Given the description of an element on the screen output the (x, y) to click on. 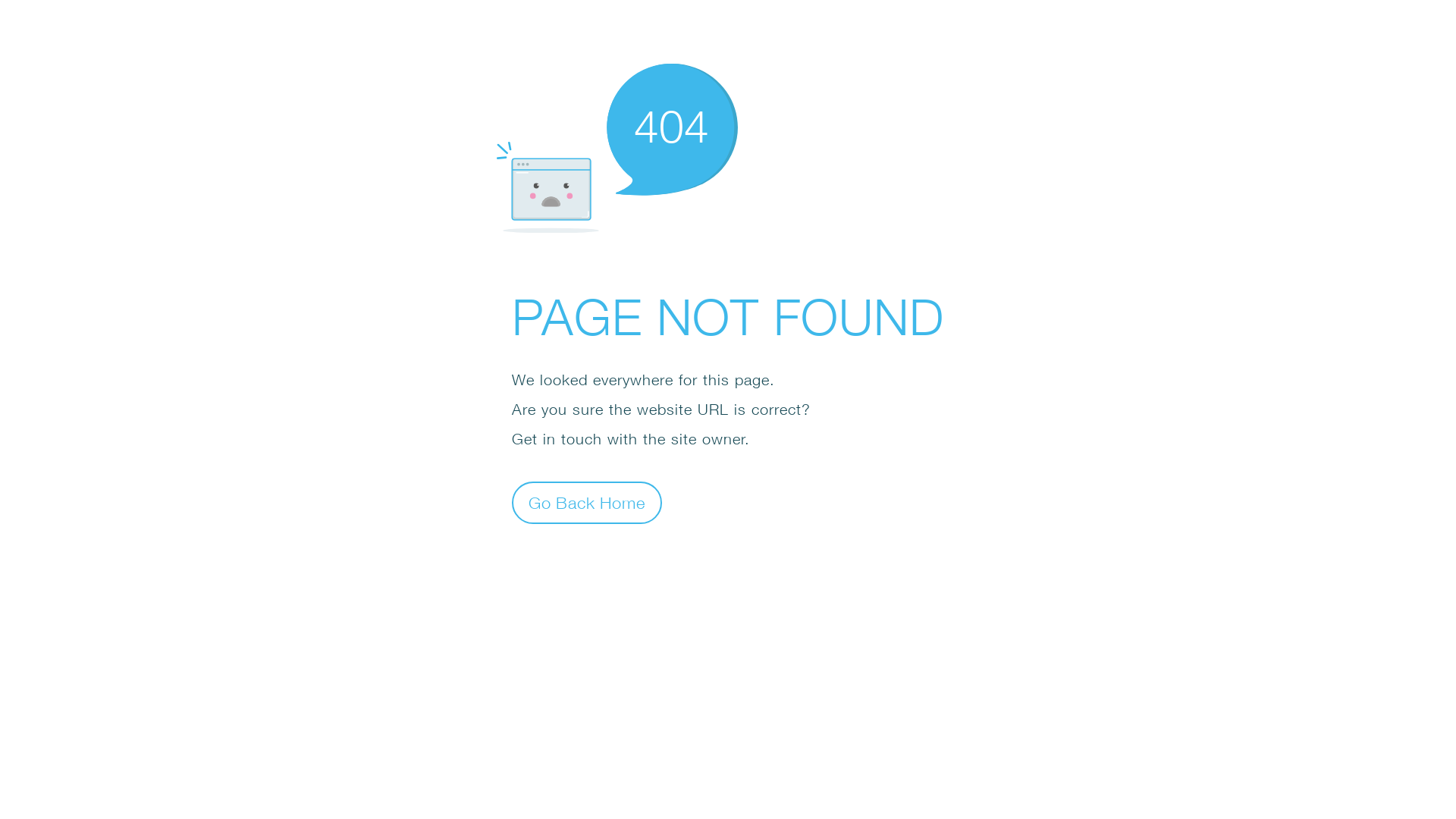
Go Back Home Element type: text (586, 502)
